Given the description of an element on the screen output the (x, y) to click on. 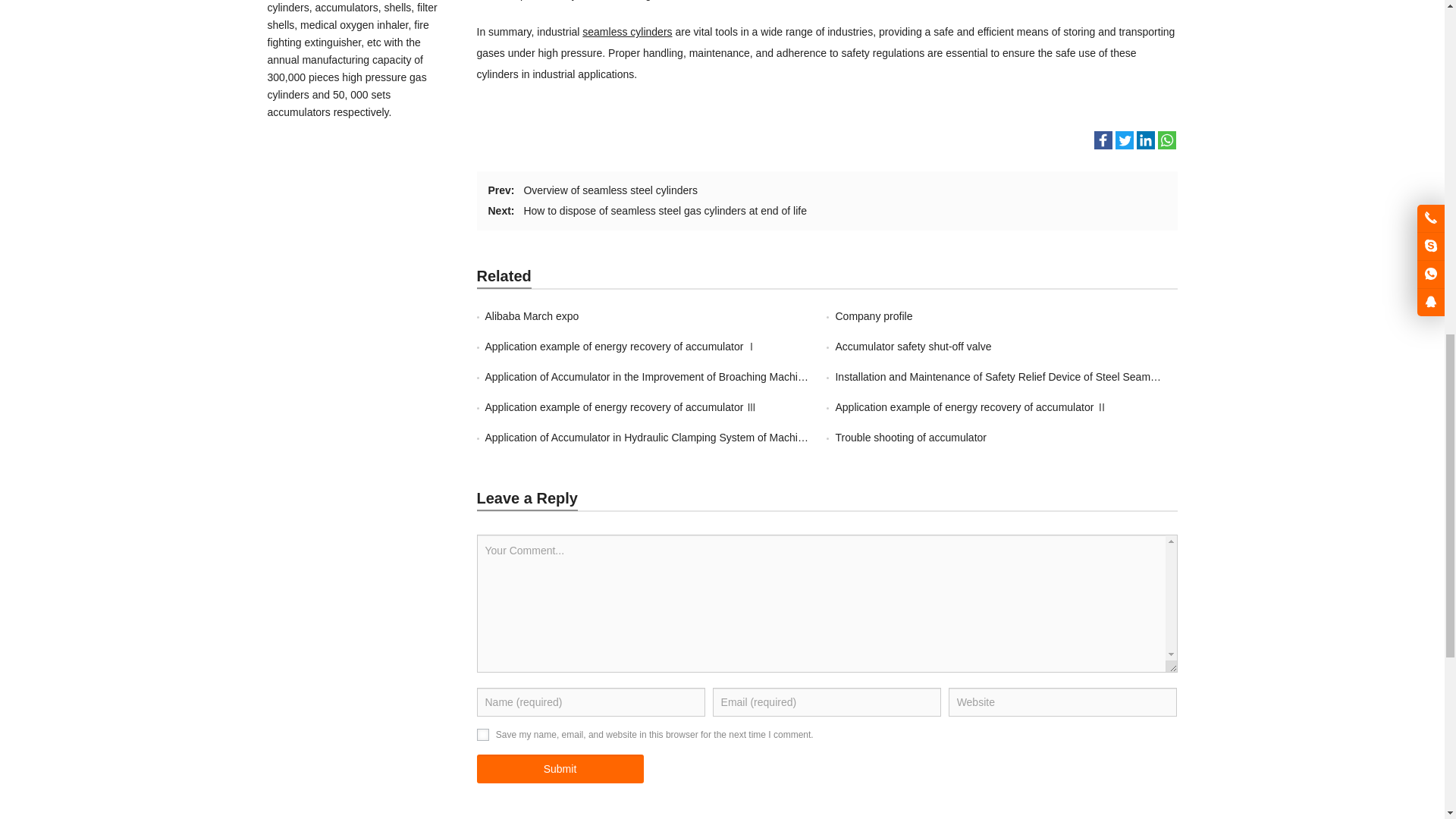
Share on Twitter (1123, 140)
Submit (559, 768)
Share on Facebook (1102, 140)
yes (481, 734)
